Given the description of an element on the screen output the (x, y) to click on. 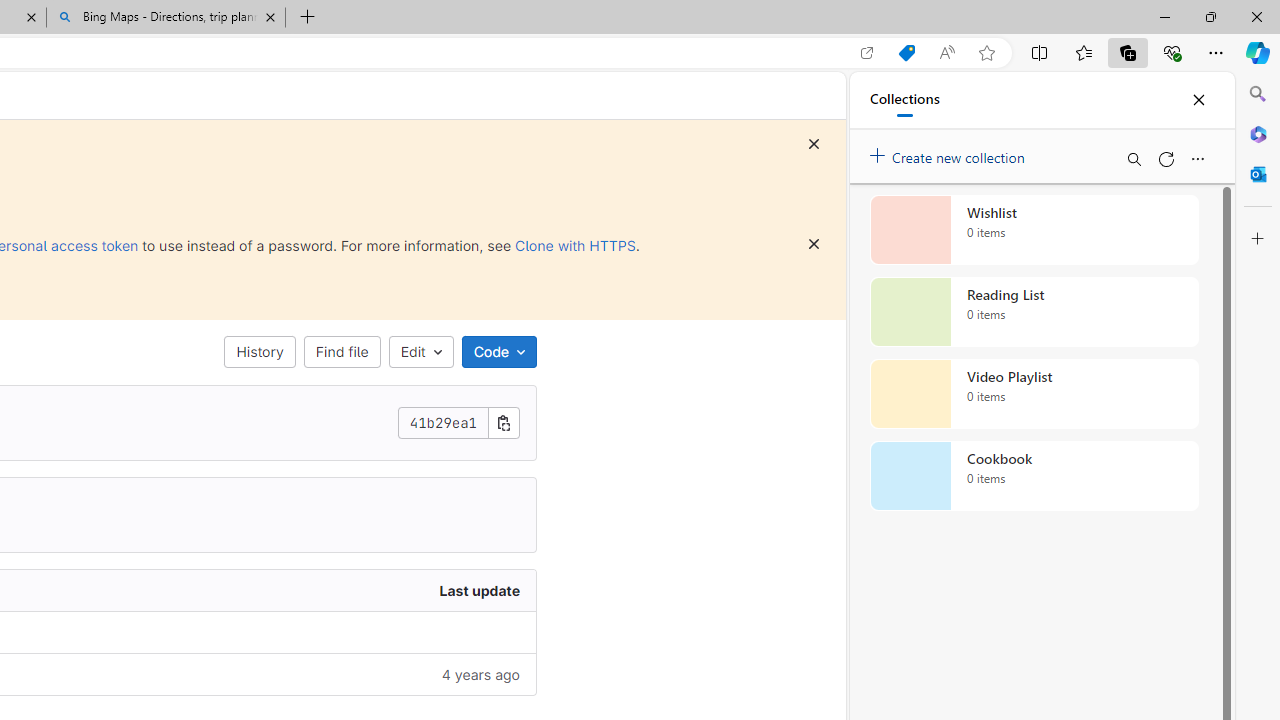
History (259, 351)
Cookbook collection, 0 items (1034, 475)
Edit (420, 351)
